Given the description of an element on the screen output the (x, y) to click on. 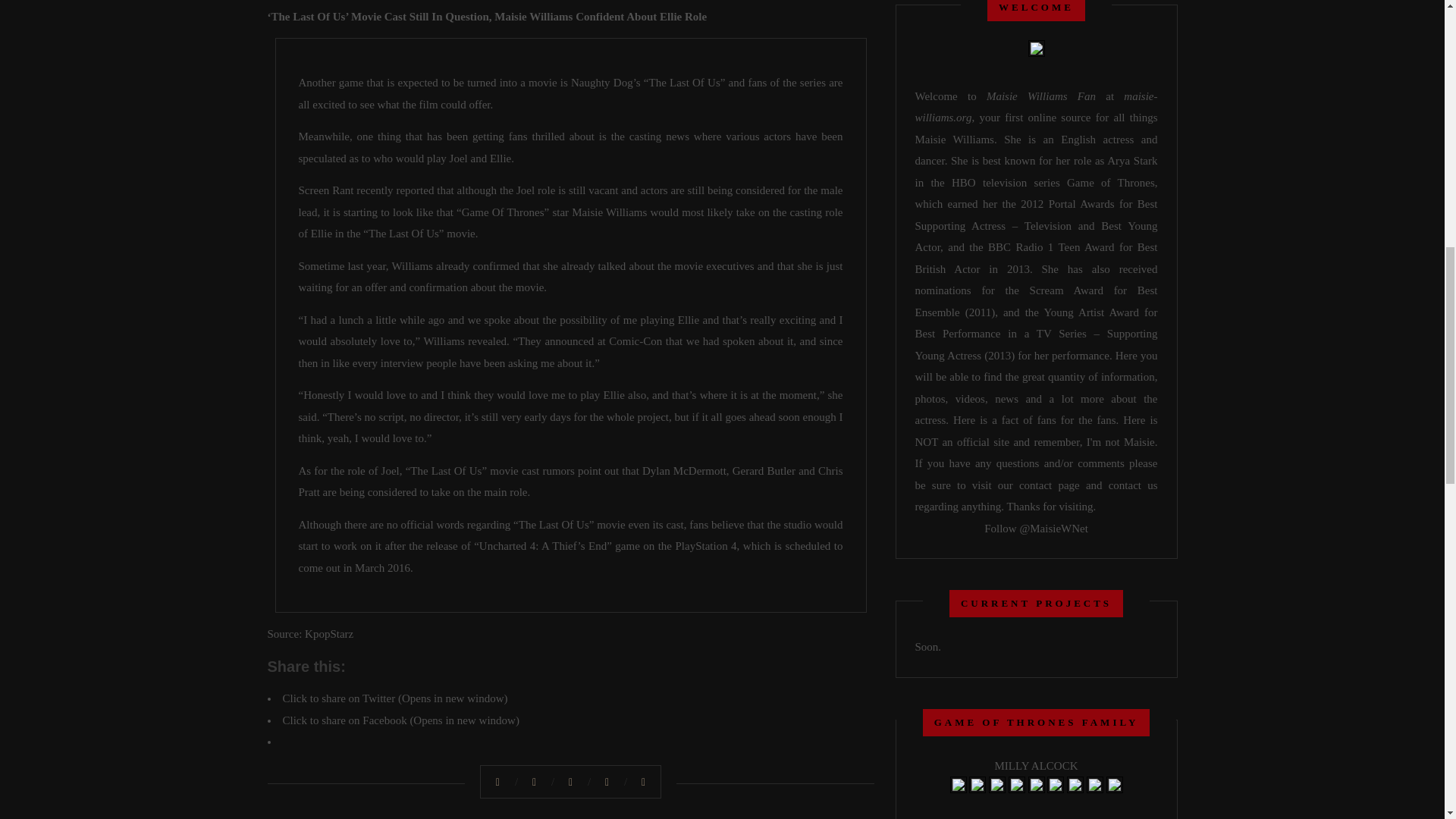
Click to share on Twitter (394, 698)
KpopStarz (328, 633)
MILLY ALCOCK (1035, 766)
Click to share on Facebook (400, 720)
